Given the description of an element on the screen output the (x, y) to click on. 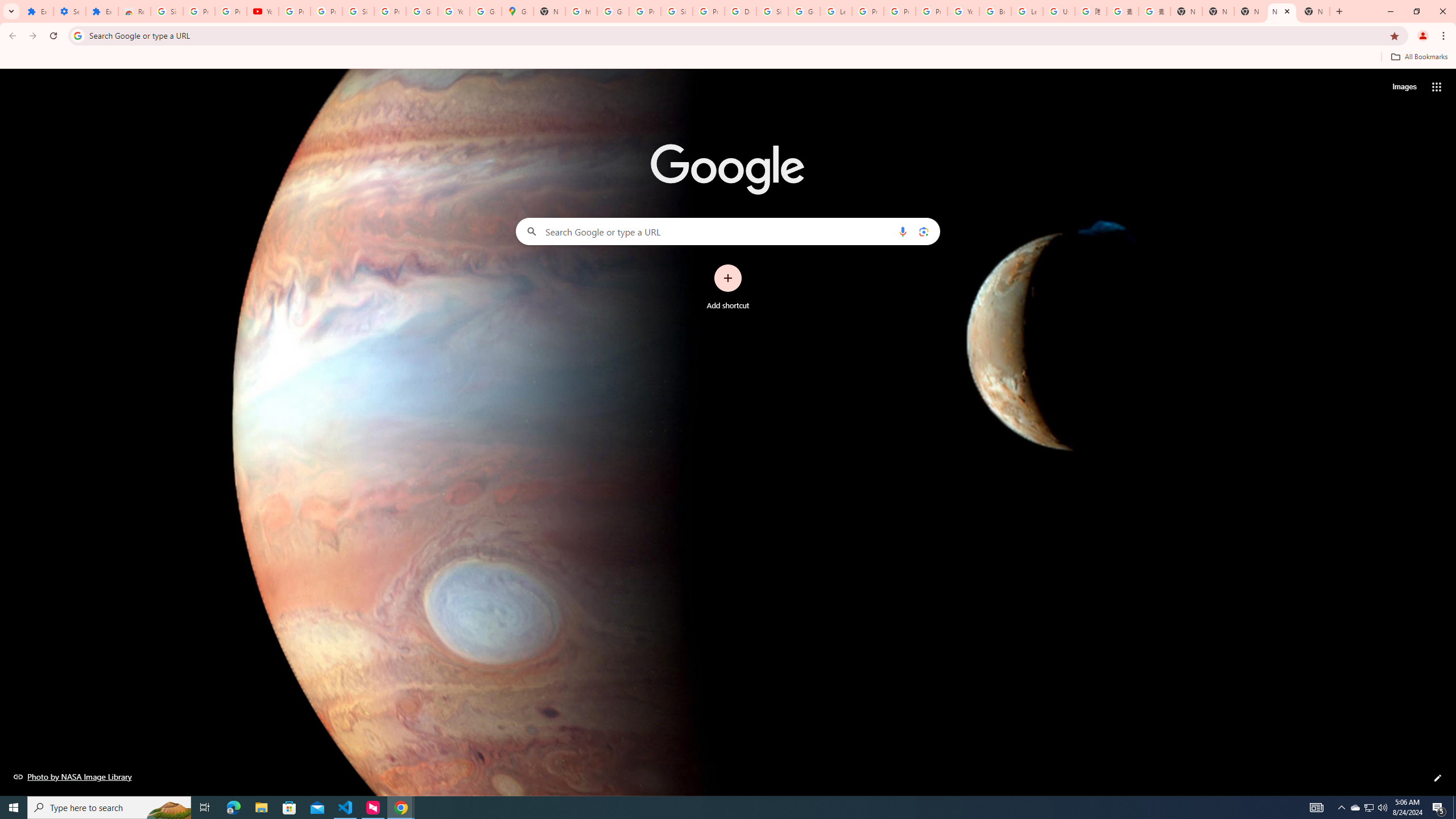
YouTube (963, 11)
Sign in - Google Accounts (358, 11)
Reviews: Helix Fruit Jump Arcade Game (134, 11)
Privacy Help Center - Policies Help (899, 11)
Sign in - Google Accounts (166, 11)
Photo by NASA Image Library (72, 776)
